Given the description of an element on the screen output the (x, y) to click on. 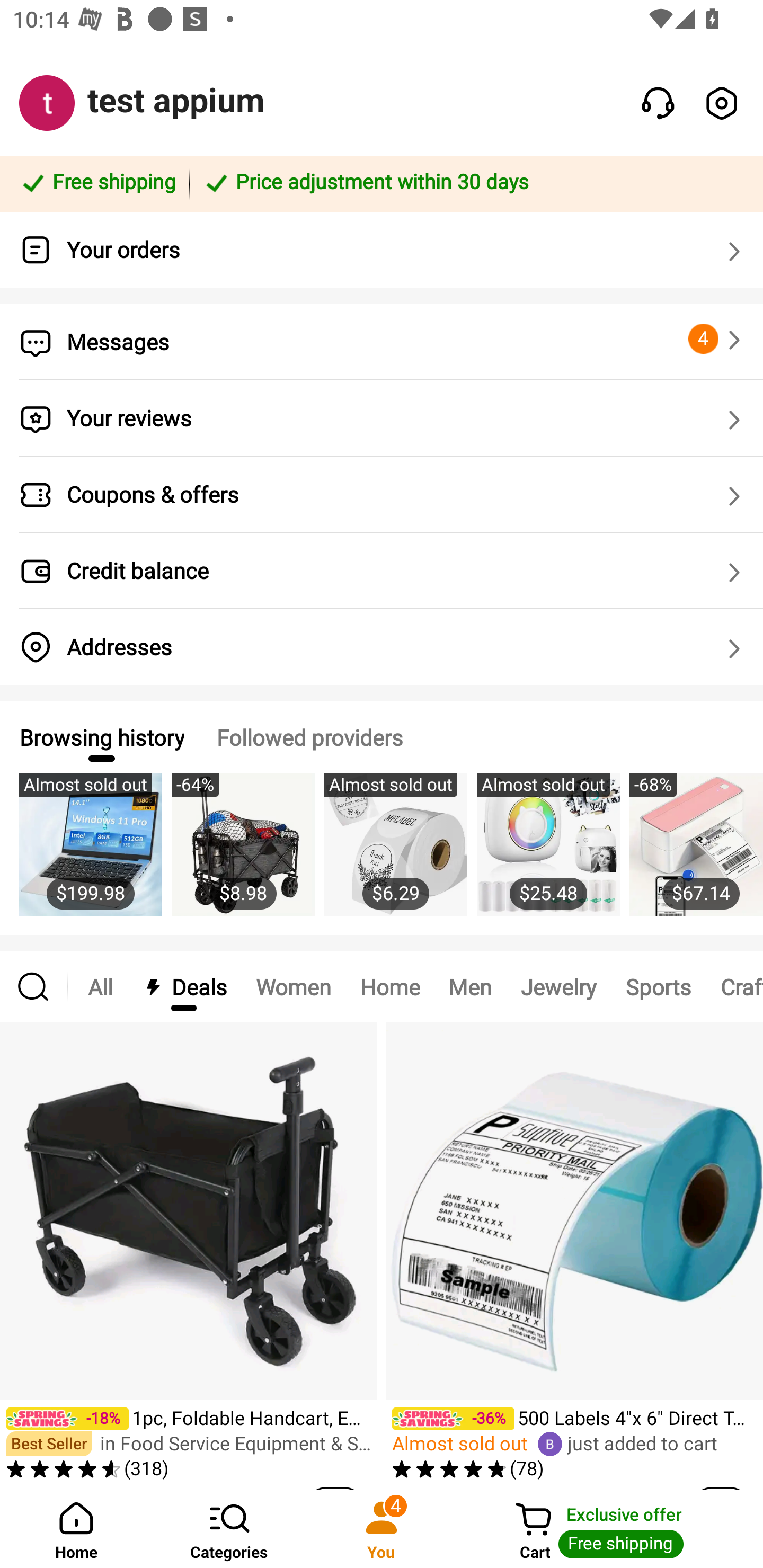
test appium (175, 100)
Free shipping (97, 183)
Price adjustment within 30 days (472, 183)
Your orders (381, 249)
Messages 4 (381, 342)
4 (717, 339)
Your reviews (381, 418)
Coupons & offers (381, 494)
Credit balance (381, 571)
Addresses (381, 647)
Browsing history (101, 736)
Followed providers (308, 736)
Almost sold out $199.98 (90, 853)
-64% $8.98 (242, 853)
Almost sold out $6.29 (395, 853)
Almost sold out $25.48 (547, 853)
-68% $67.14 (696, 853)
All (99, 986)
Deals Deals Deals (183, 986)
Women (293, 986)
Home (389, 986)
Men (469, 986)
Jewelry (558, 986)
Sports (658, 986)
Home (76, 1528)
Categories (228, 1528)
You 4 You (381, 1528)
Cart Cart Exclusive offer (610, 1528)
